Given the description of an element on the screen output the (x, y) to click on. 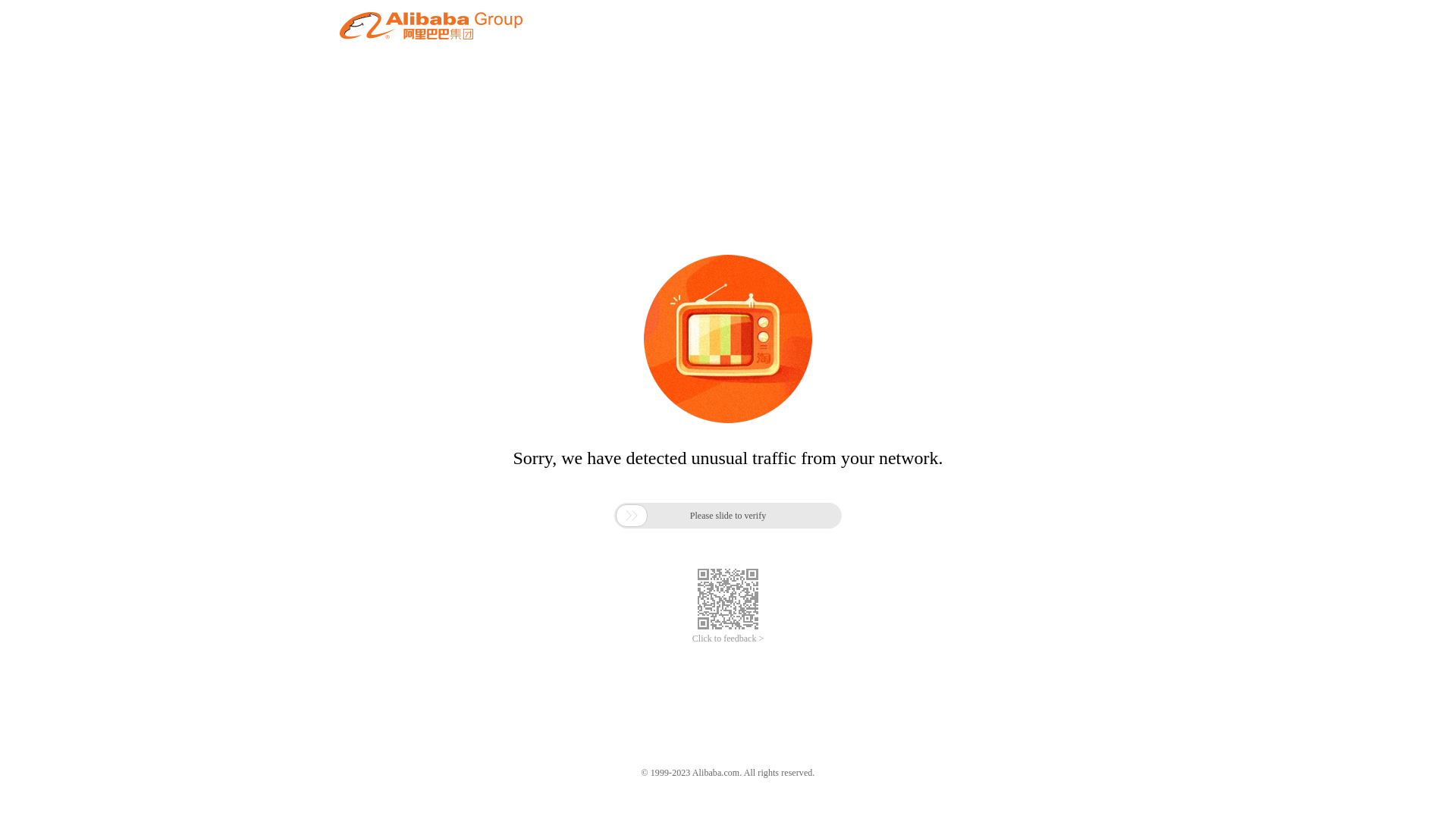
Click to feedback > Element type: text (727, 638)
